Given the description of an element on the screen output the (x, y) to click on. 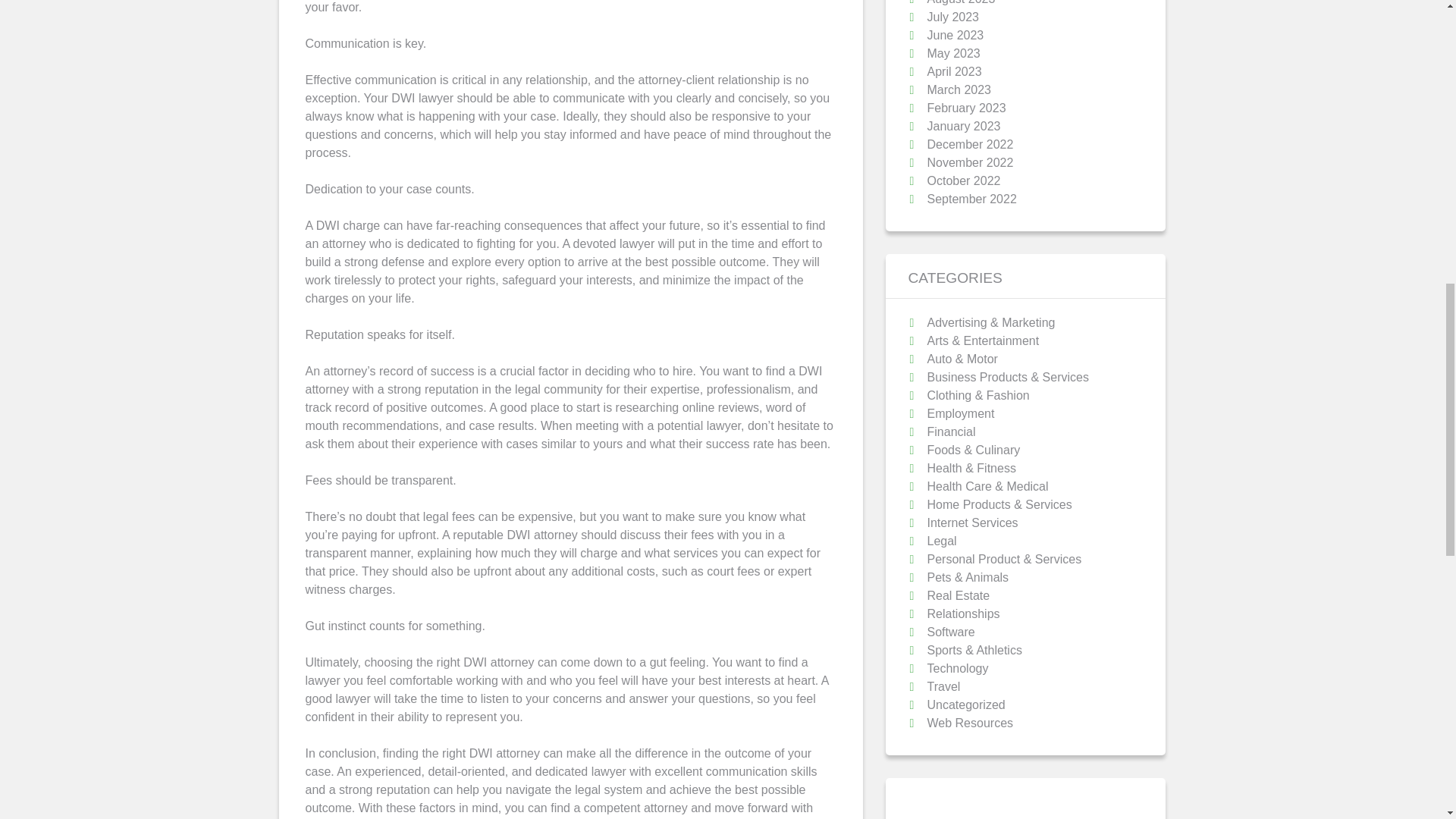
March 2023 (958, 89)
November 2022 (969, 162)
September 2022 (971, 198)
August 2023 (960, 2)
January 2023 (963, 125)
December 2022 (969, 144)
June 2023 (955, 34)
February 2023 (966, 107)
July 2023 (952, 16)
October 2022 (963, 180)
April 2023 (953, 71)
May 2023 (952, 52)
